Given the description of an element on the screen output the (x, y) to click on. 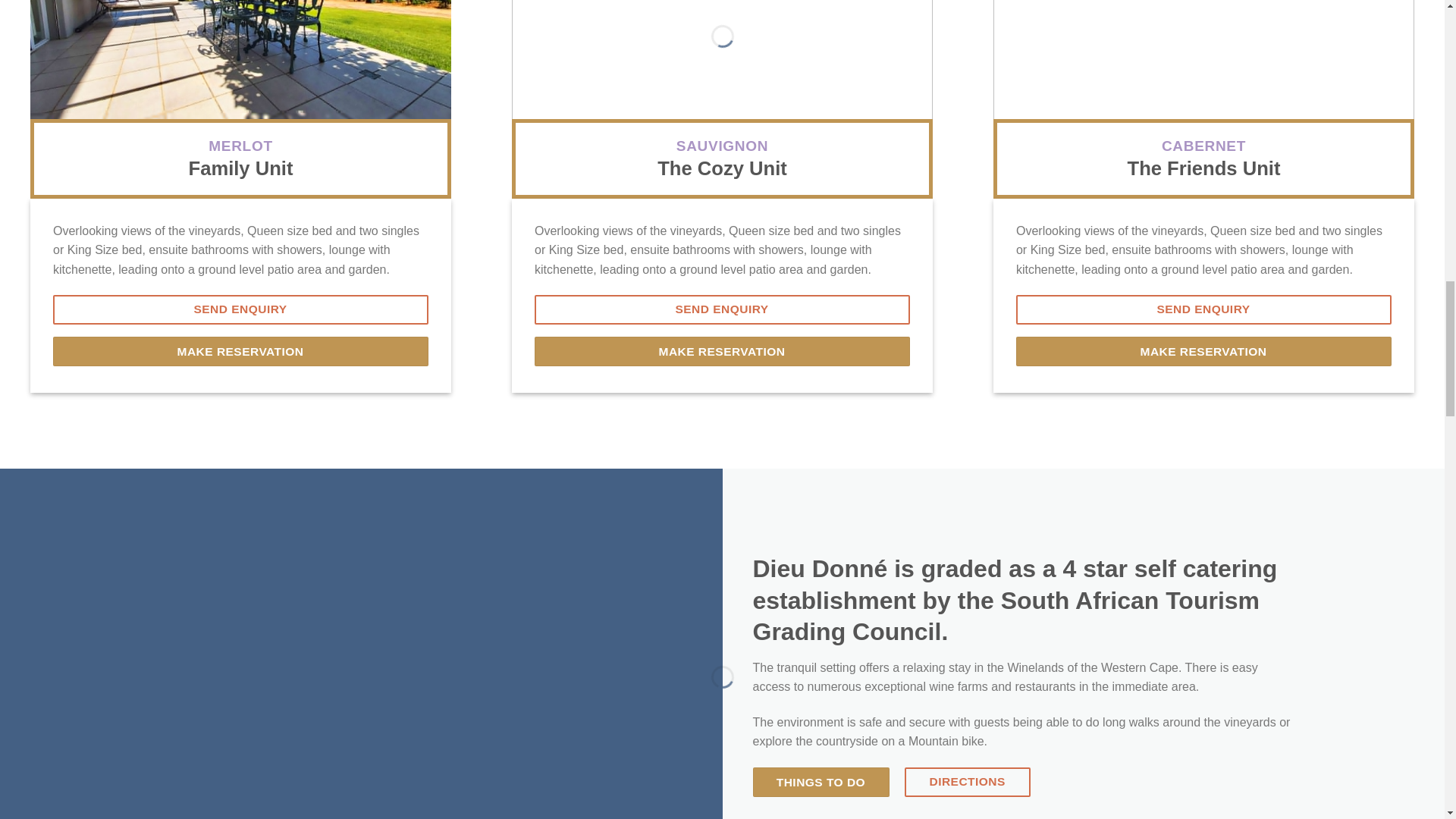
SEND ENQUIRY (240, 309)
SEND ENQUIRY (722, 309)
MAKE RESERVATION (722, 351)
MAKE RESERVATION (240, 351)
